Given the description of an element on the screen output the (x, y) to click on. 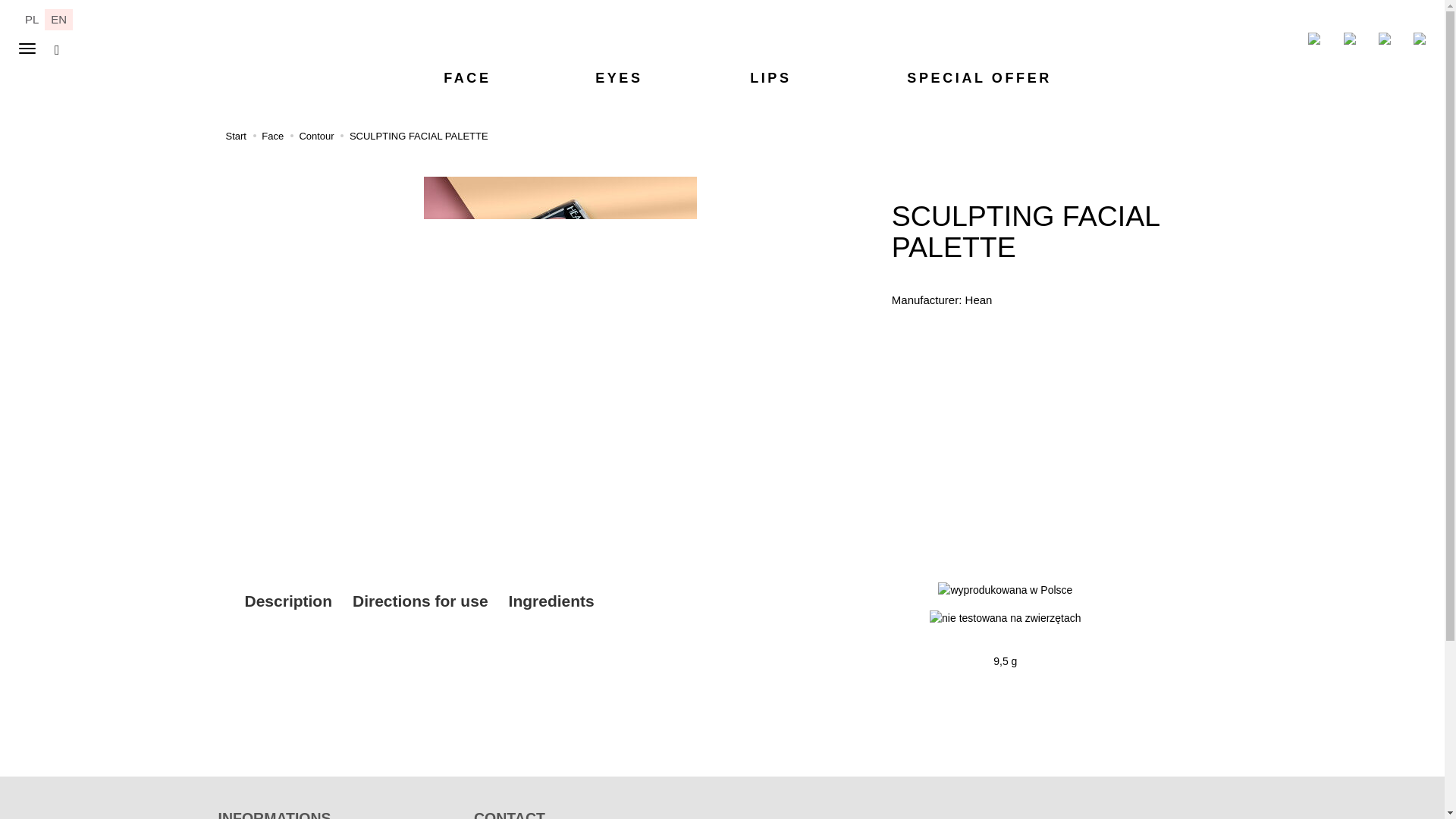
EYES (618, 77)
SPECIAL OFFER (948, 77)
LIPS (769, 77)
PL (31, 19)
EN (58, 19)
FACE (467, 77)
